Given the description of an element on the screen output the (x, y) to click on. 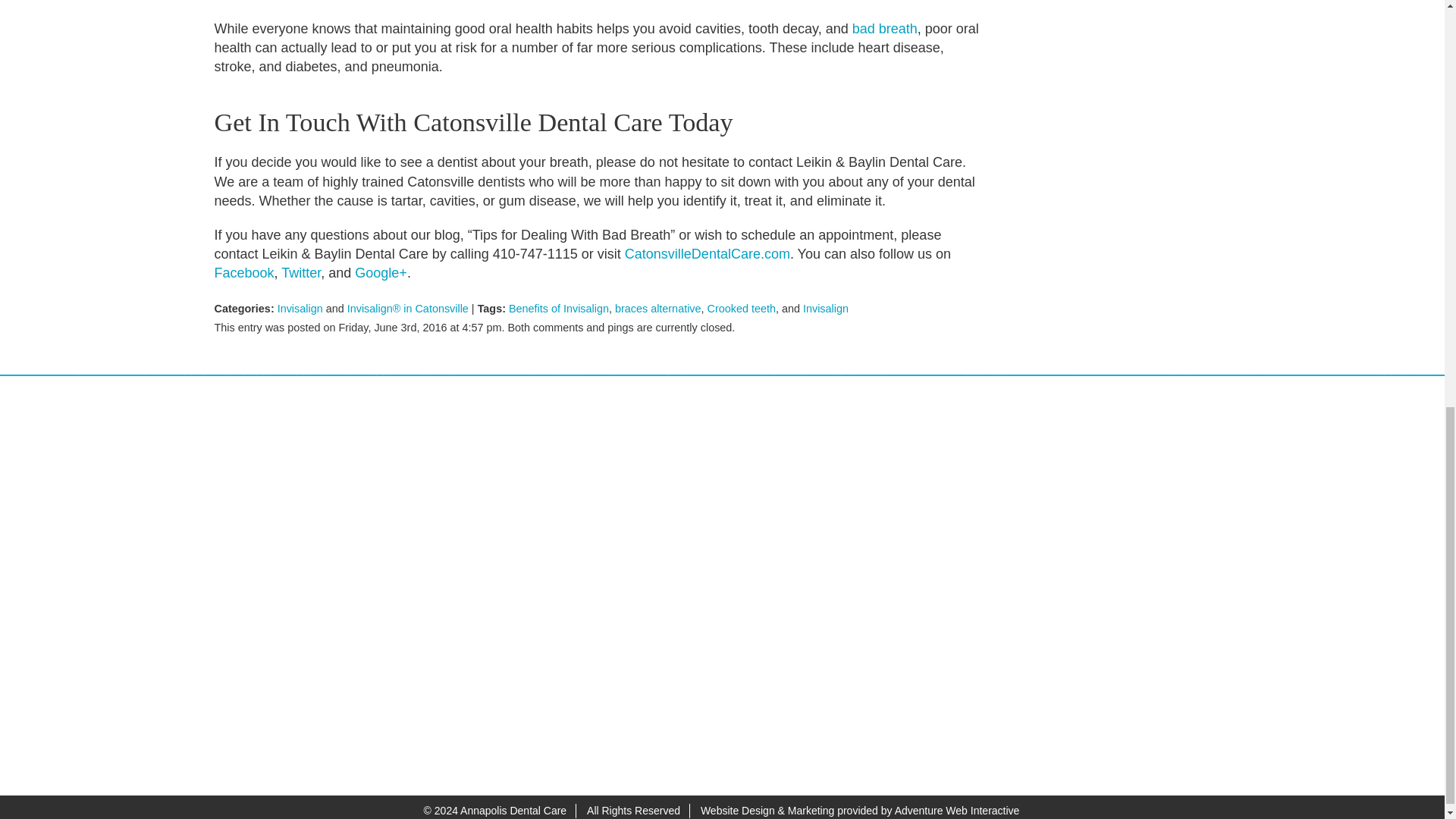
CatonsvilleDentalCare.com (707, 253)
Invisalign (300, 308)
Invisalign (825, 308)
bad breath (884, 28)
Twitter (300, 272)
Benefits of Invisalign (558, 308)
Facebook (243, 272)
braces alternative (657, 308)
Crooked teeth (741, 308)
